Given the description of an element on the screen output the (x, y) to click on. 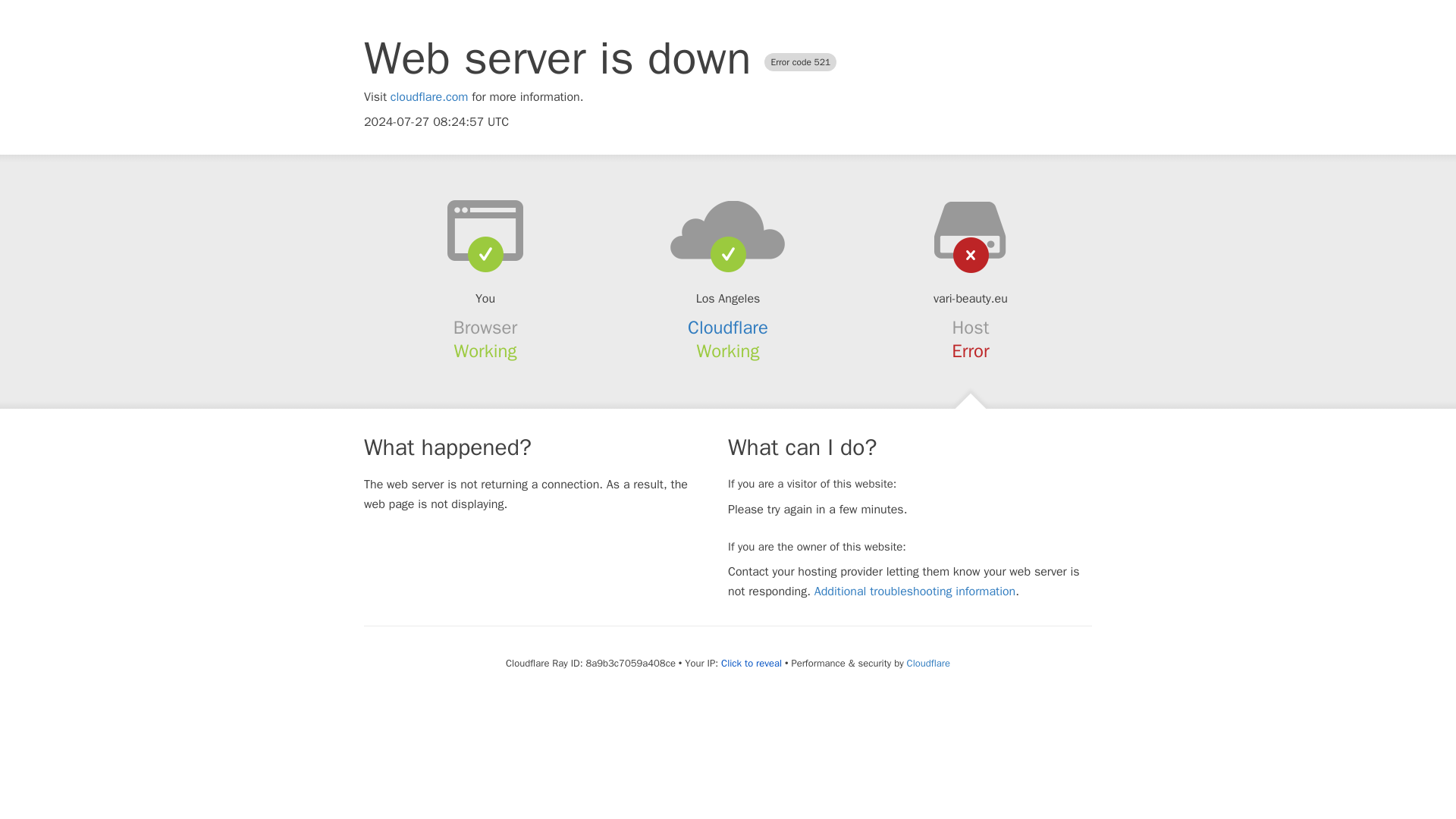
Additional troubleshooting information (913, 590)
cloudflare.com (429, 96)
Cloudflare (727, 327)
Click to reveal (750, 663)
Cloudflare (928, 662)
